Given the description of an element on the screen output the (x, y) to click on. 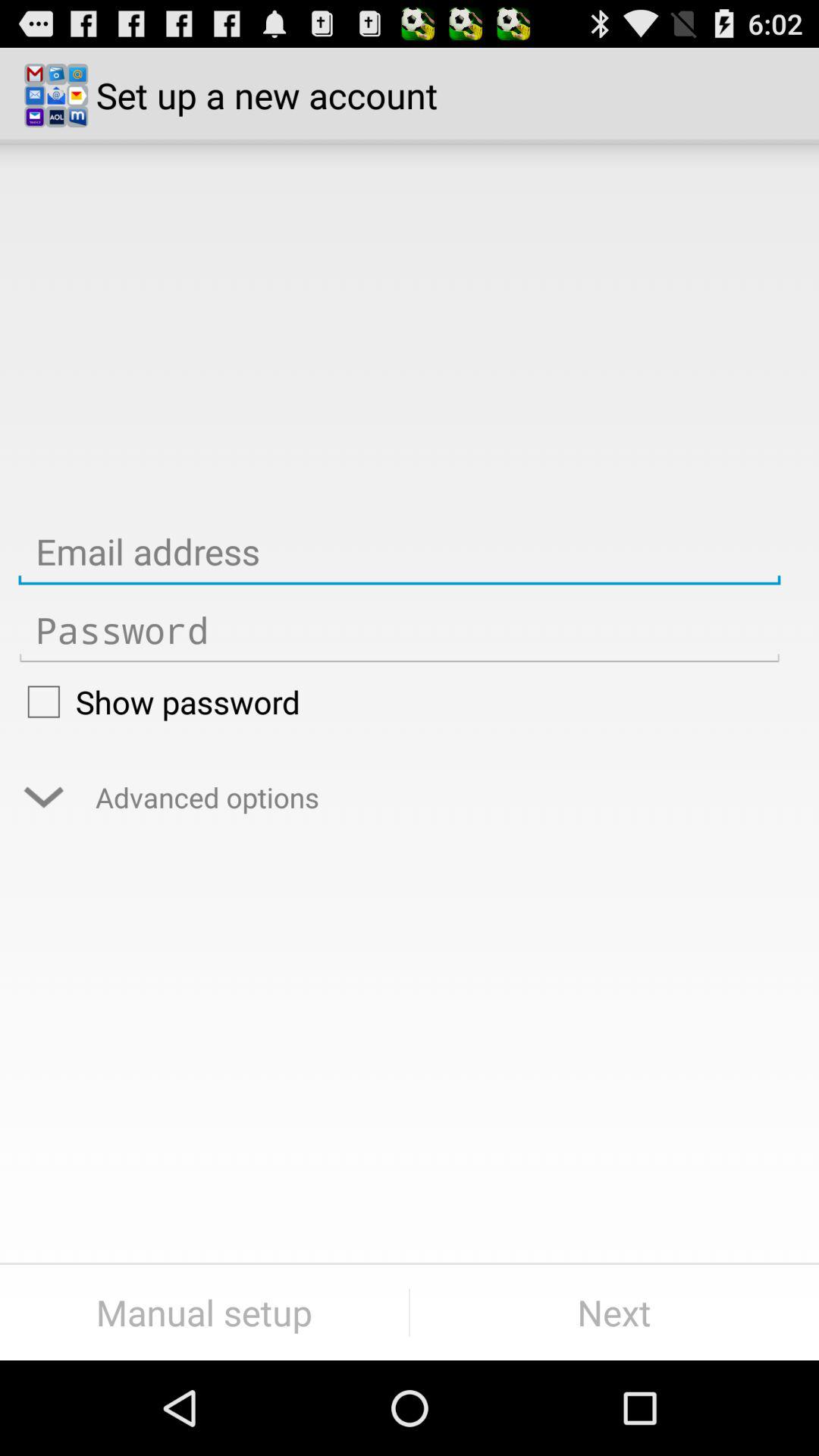
select button at the bottom left corner (204, 1312)
